Given the description of an element on the screen output the (x, y) to click on. 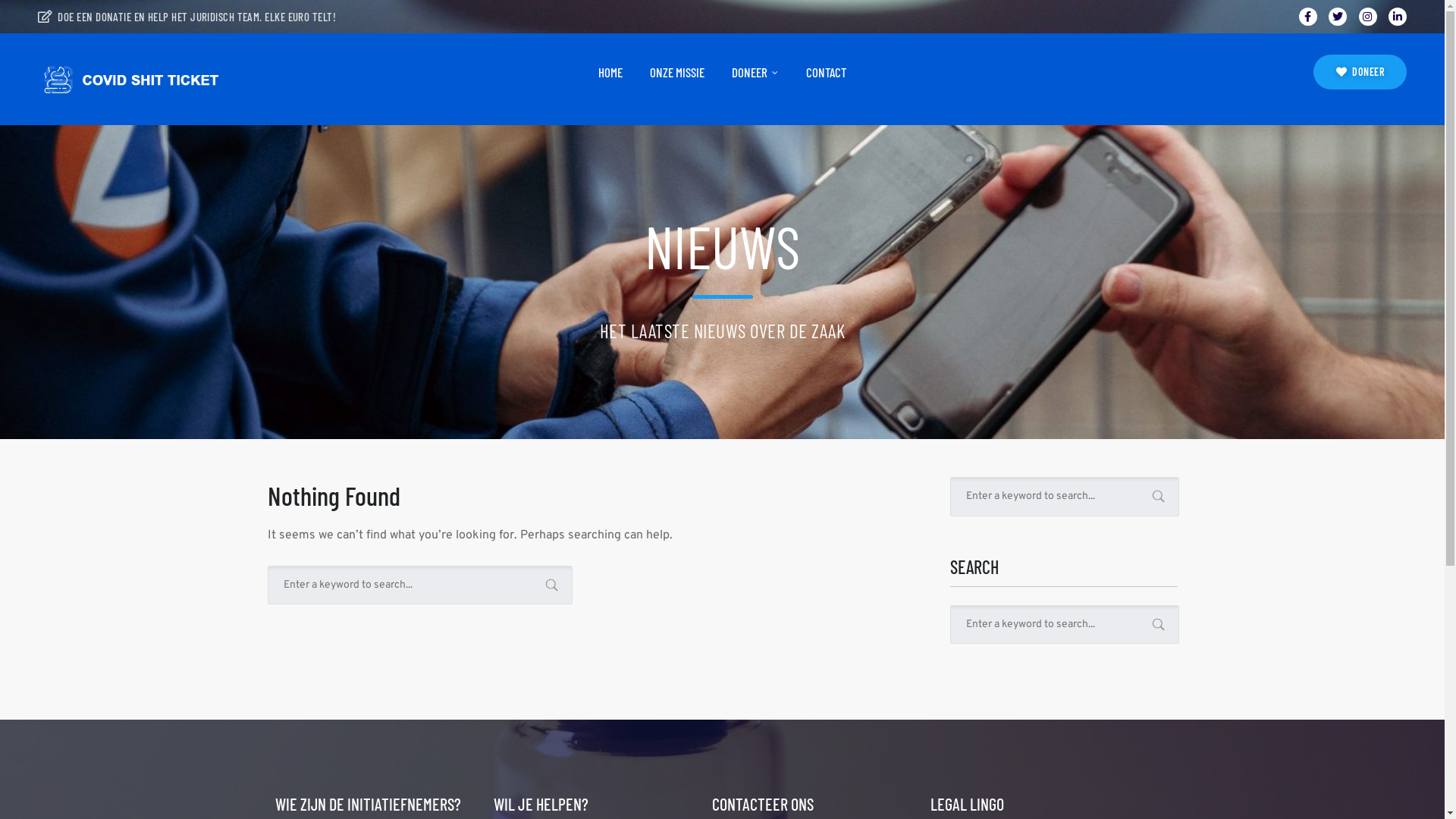
ONZE MISSIE Element type: text (677, 72)
Twitter Element type: hover (1337, 16)
COVID Shit Ticket: neem je QR terug! Element type: hover (144, 79)
DONEER Element type: text (1359, 71)
CONTACT Element type: text (825, 72)
HOME Element type: text (610, 72)
Submit Element type: text (33, 21)
Instagram Element type: hover (1367, 16)
DONEER Element type: text (755, 72)
LinkedIn Element type: hover (1397, 16)
Facebook Element type: hover (1308, 16)
DOE EEN DONATIE EN HELP HET JURIDISCH TEAM. ELKE EURO TELT! Element type: text (186, 16)
